Given the description of an element on the screen output the (x, y) to click on. 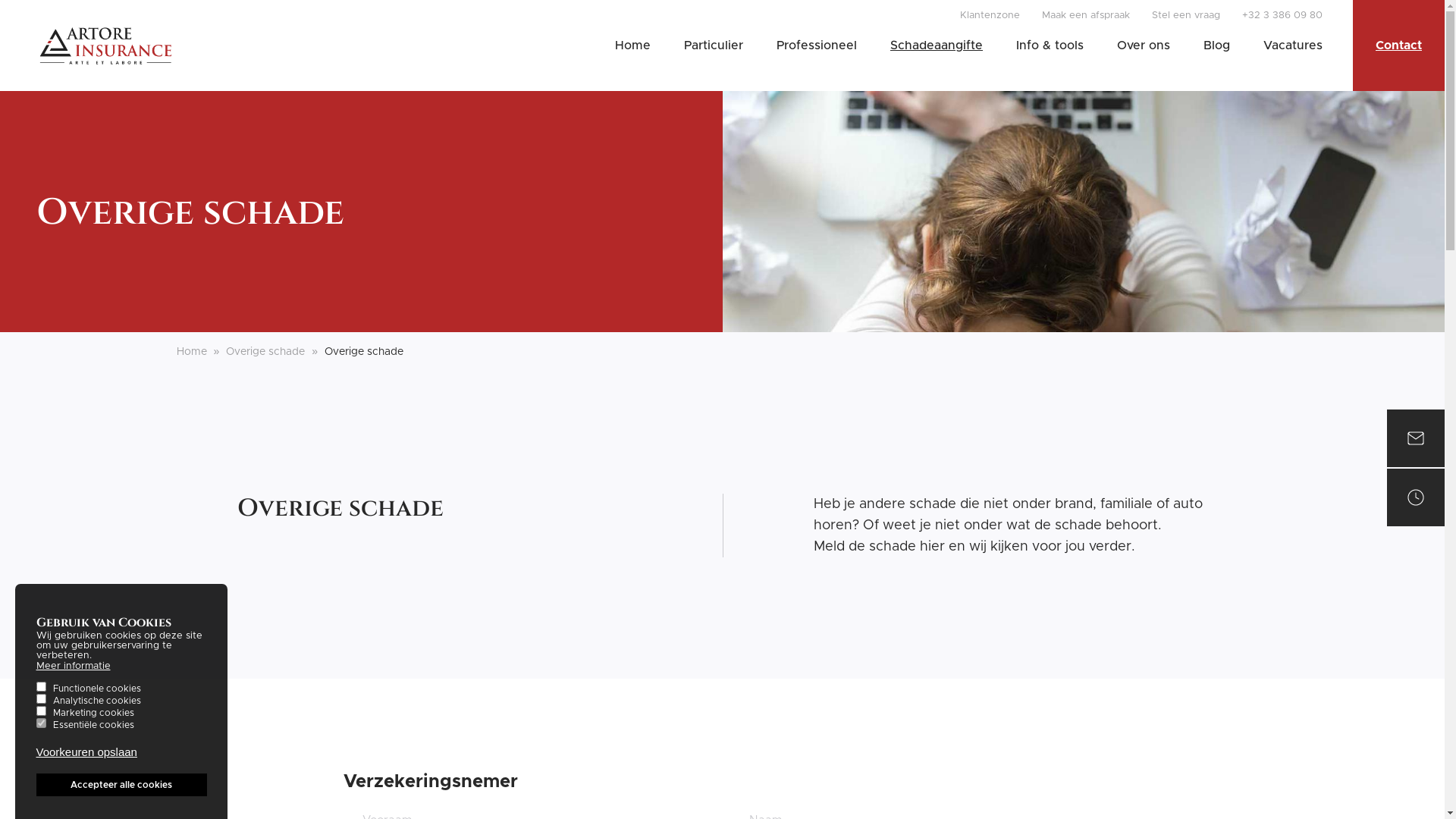
Over ons Element type: text (1143, 45)
Klantenzone Element type: text (989, 15)
Stel een vraag Element type: text (1185, 15)
Maak een afspraak Element type: text (1085, 15)
Blog Element type: text (1216, 45)
Professioneel Element type: text (816, 45)
Home Element type: hover (104, 44)
Meer informatie Element type: text (73, 665)
Vacatures Element type: text (1292, 45)
Home Element type: text (190, 351)
+32 3 386 09 80 Element type: text (1282, 15)
Contact Element type: text (1398, 45)
Overslaan en naar de inhoud gaan Element type: text (0, 0)
Particulier Element type: text (713, 45)
Home Element type: text (632, 45)
Accepteer alle cookies Element type: text (121, 784)
Voorkeuren opslaan Element type: text (86, 751)
